Given the description of an element on the screen output the (x, y) to click on. 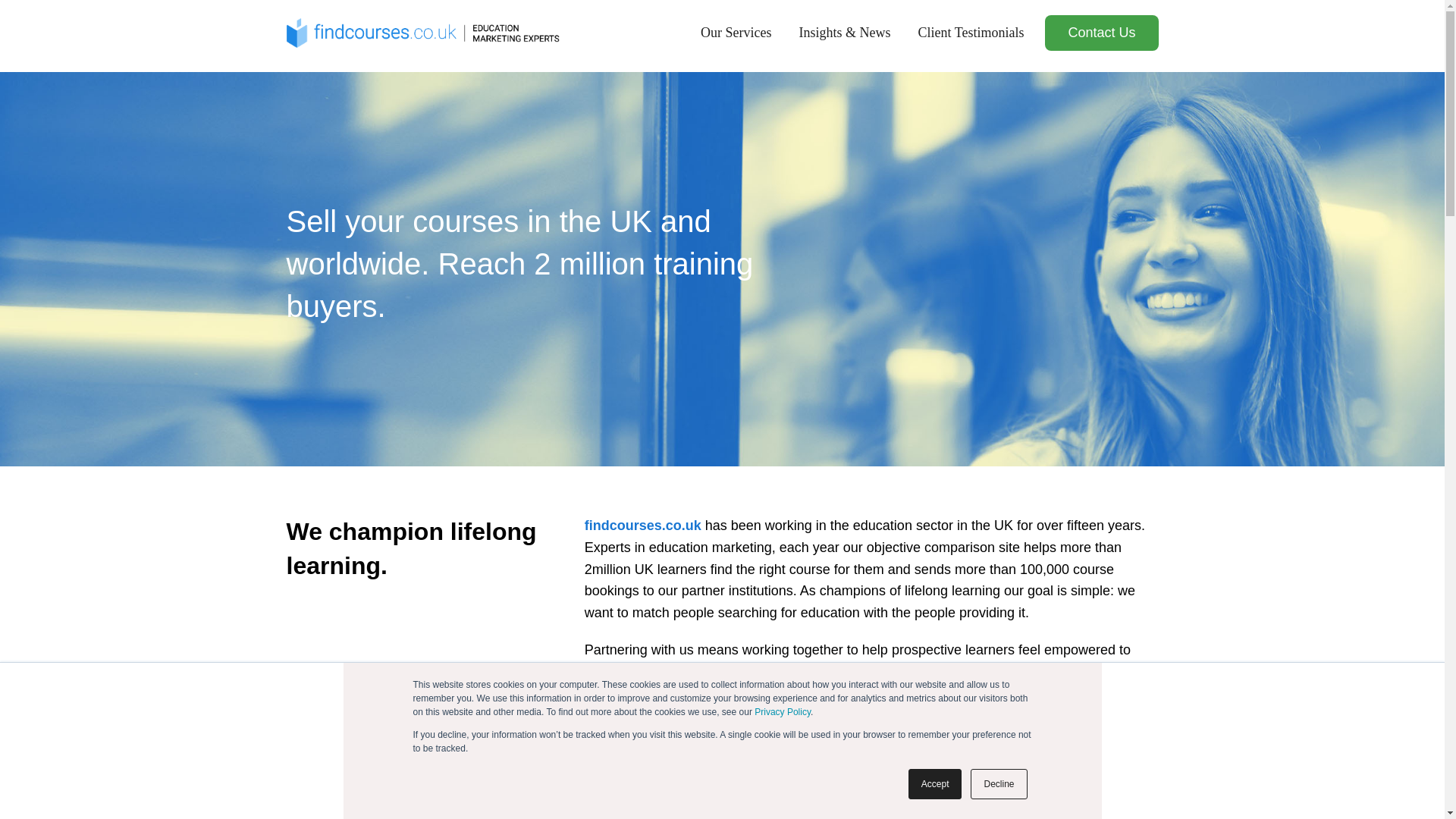
Contact Us (1101, 32)
Privacy Policy (782, 711)
Our Services (735, 33)
Contact Us (1101, 32)
findcourses.co.uk (643, 525)
Client Testimonials (971, 33)
Accept (935, 784)
Decline (998, 784)
